Given the description of an element on the screen output the (x, y) to click on. 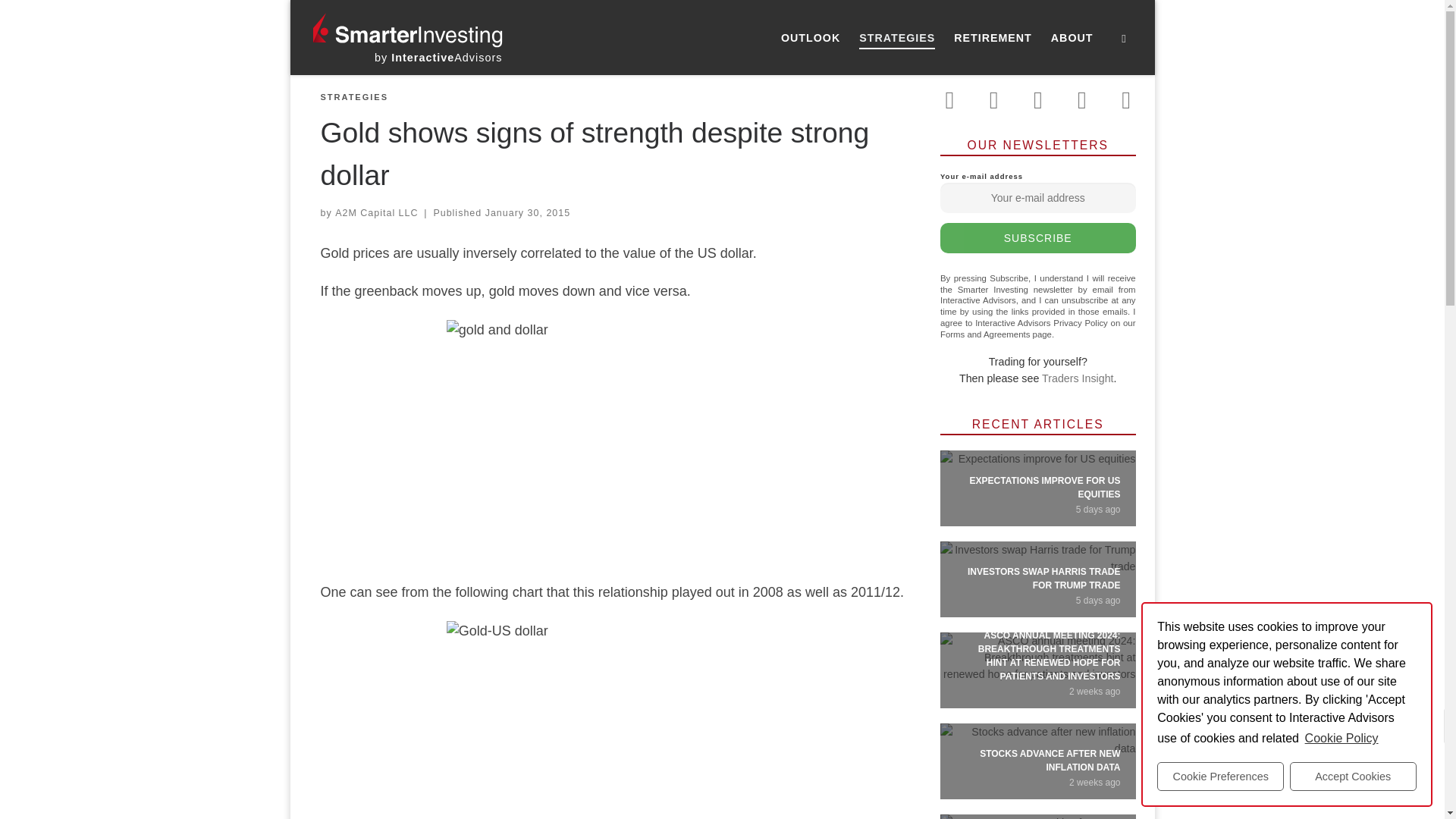
A2M Capital LLC (375, 213)
by InteractiveAdvisors (438, 57)
Interactive Advisors (438, 57)
STRATEGIES (897, 38)
Skip to content (60, 20)
View all posts by A2M Capital LLC (375, 213)
January 30, 2015 (527, 213)
OUTLOOK (810, 38)
ABOUT (1071, 38)
View all posts in Strategies (353, 97)
Subscribe (1037, 237)
RETIREMENT (992, 38)
STRATEGIES (353, 97)
